Given the description of an element on the screen output the (x, y) to click on. 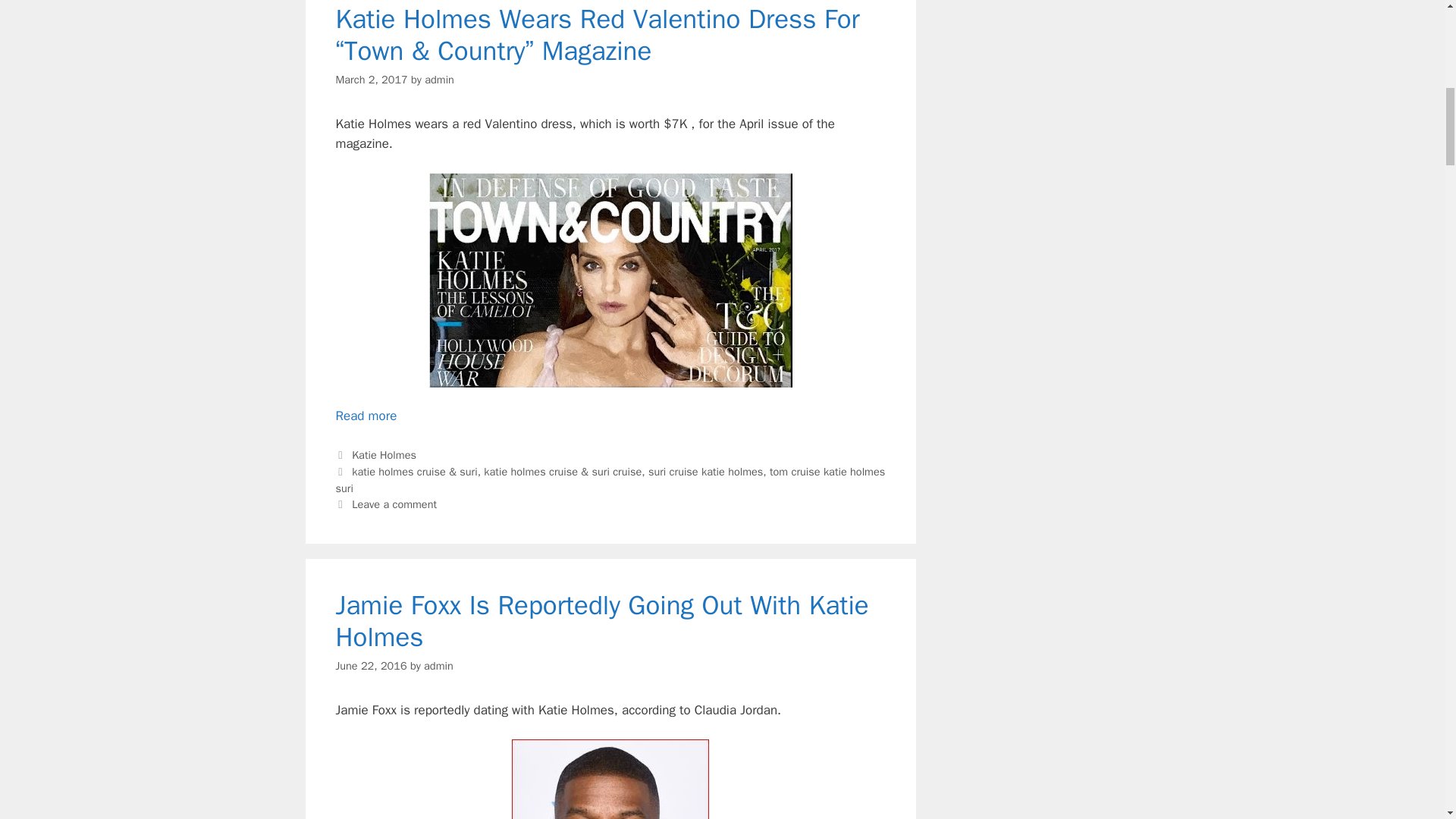
admin (437, 665)
Katie Holmes (384, 454)
suri cruise katie holmes (704, 471)
Jamie Foxx Is Reportedly Going Out With Katie Holmes (600, 620)
admin (439, 79)
View all posts by admin (437, 665)
tom cruise katie holmes suri (609, 480)
Leave a comment (394, 504)
View all posts by admin (439, 79)
Read more (365, 415)
